Given the description of an element on the screen output the (x, y) to click on. 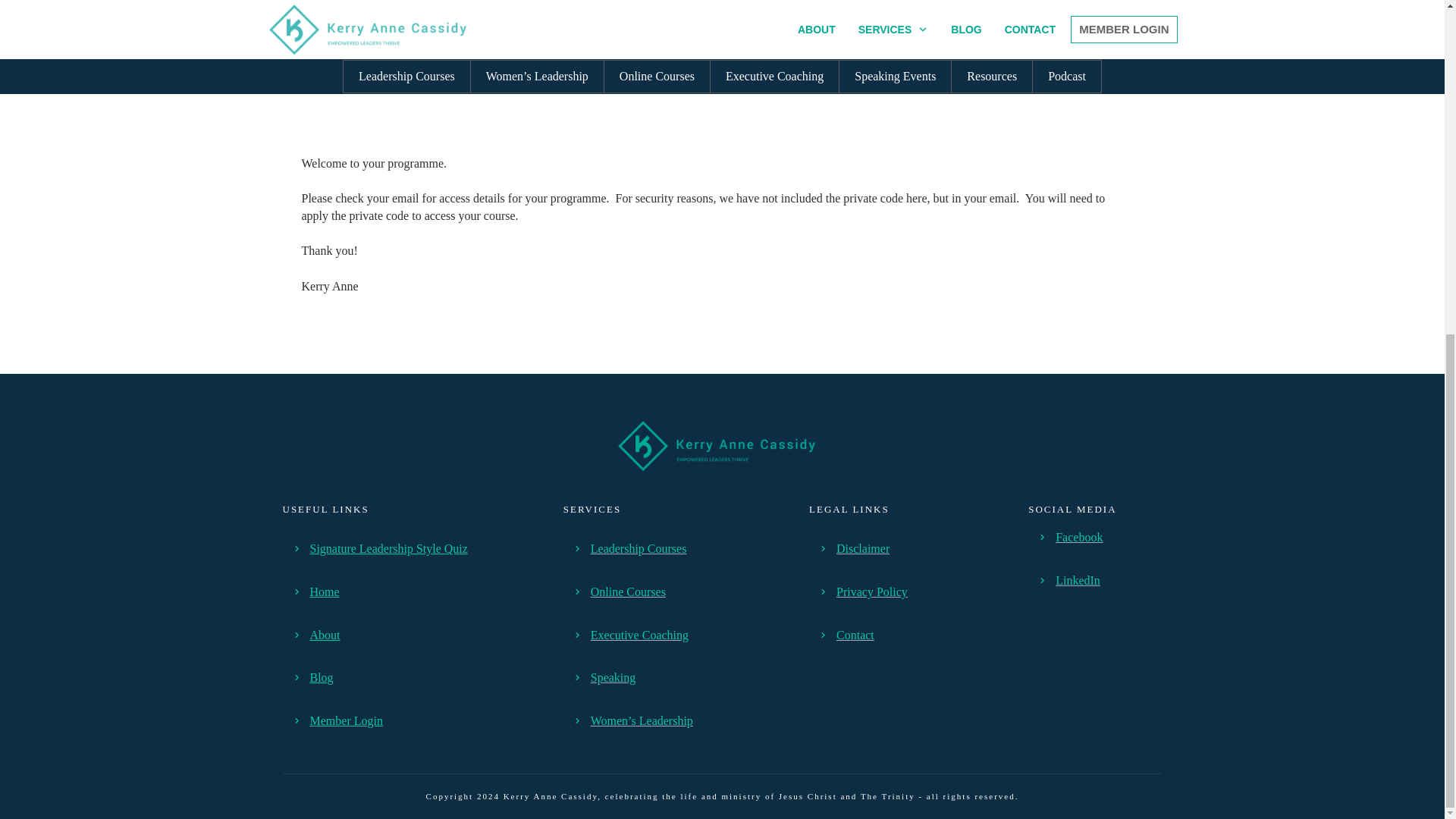
Online Courses (628, 591)
About (323, 634)
Contact (855, 634)
Leadership Courses (639, 548)
Disclaimer (862, 548)
Facebook (1078, 536)
Speaking (613, 676)
Leadership Lift Off Special Offer (722, 10)
Privacy Policy (871, 591)
LinkedIn (1077, 580)
Executive Coaching (639, 634)
Member Login (344, 720)
Blog (320, 676)
Click Here to Access Your Leadership Package (722, 57)
Signature Leadership Style Quiz (387, 548)
